Given the description of an element on the screen output the (x, y) to click on. 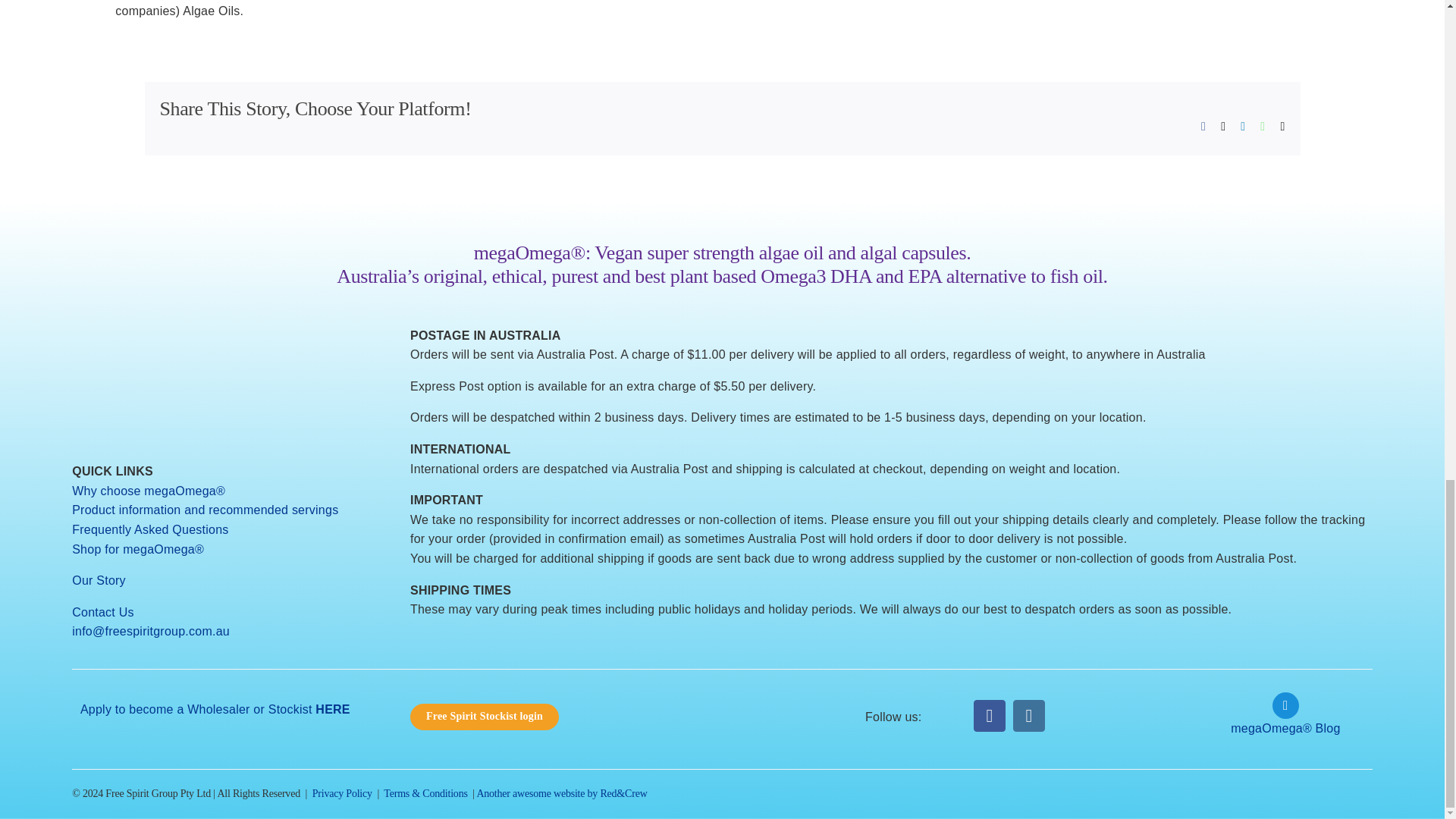
Facebook (990, 716)
Instagram (1029, 716)
